Given the description of an element on the screen output the (x, y) to click on. 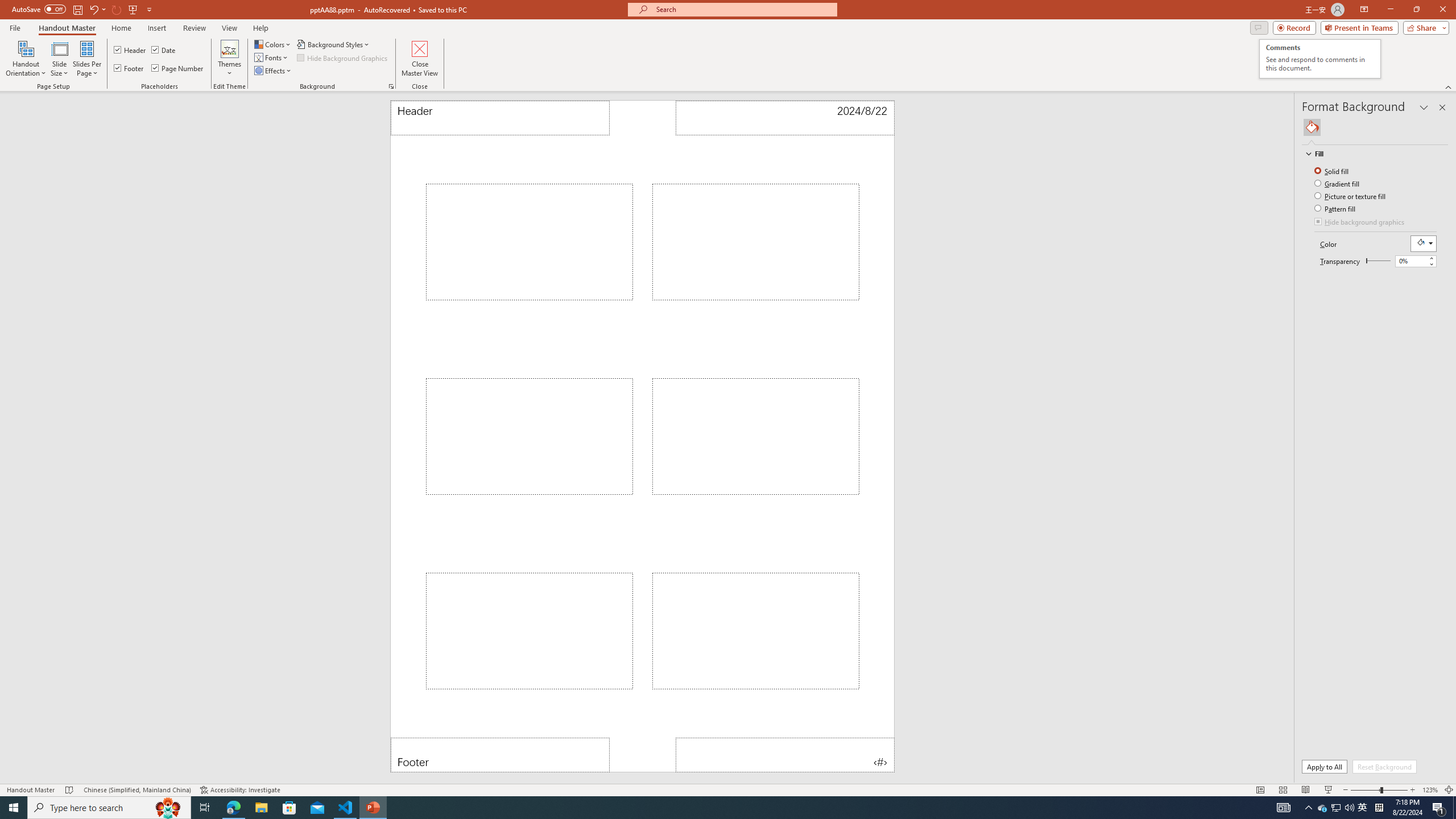
Date (164, 49)
Hide background graphics (1360, 222)
Gradient fill (1337, 183)
